Given the description of an element on the screen output the (x, y) to click on. 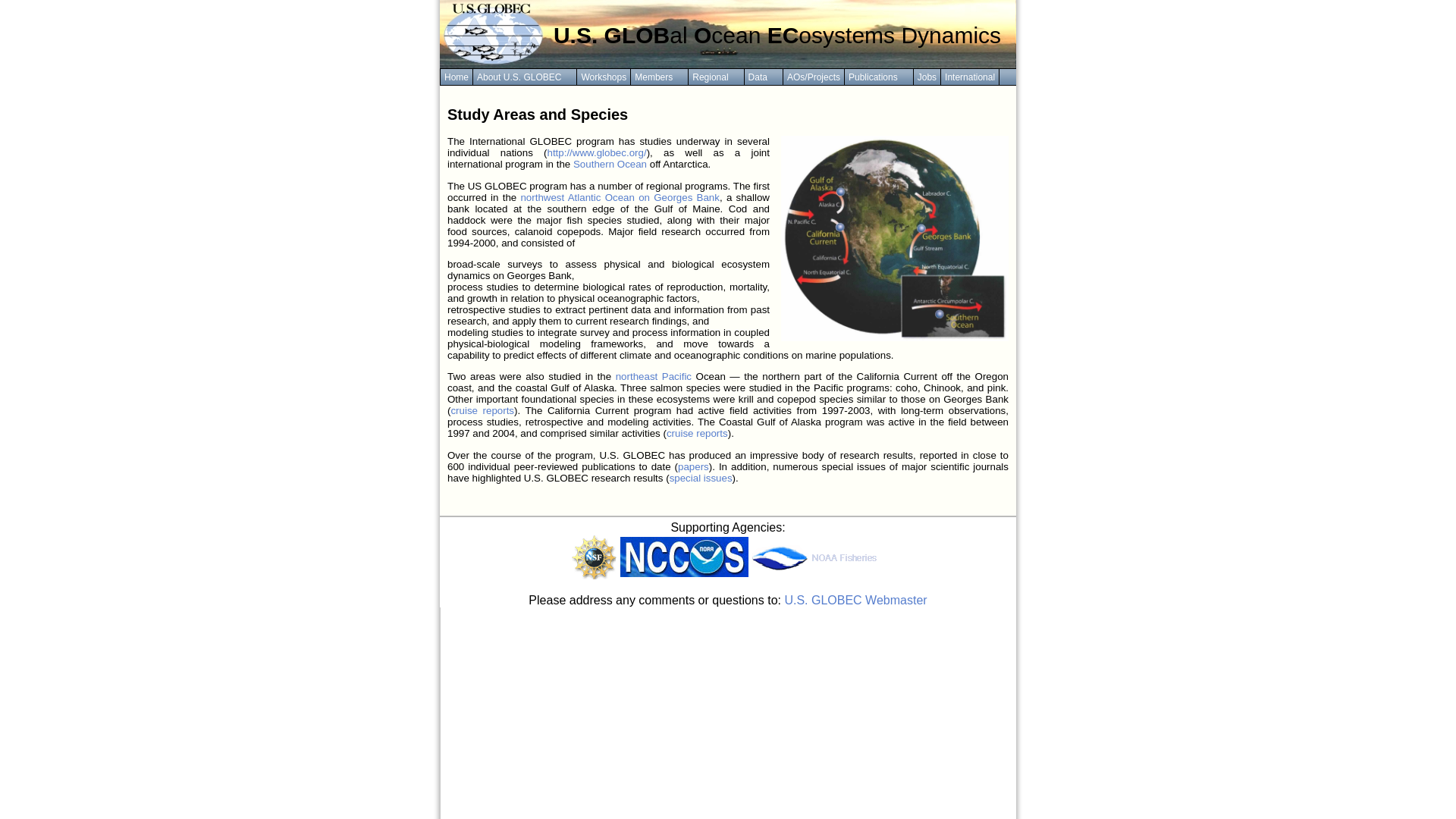
special issues (700, 477)
Southern Ocean (609, 163)
Jobs (927, 76)
papers (693, 466)
Members (659, 76)
northeast Pacific (653, 376)
Data (763, 76)
International (969, 76)
cruise reports (481, 410)
northwest Atlantic Ocean on Georges Bank (619, 197)
